Given the description of an element on the screen output the (x, y) to click on. 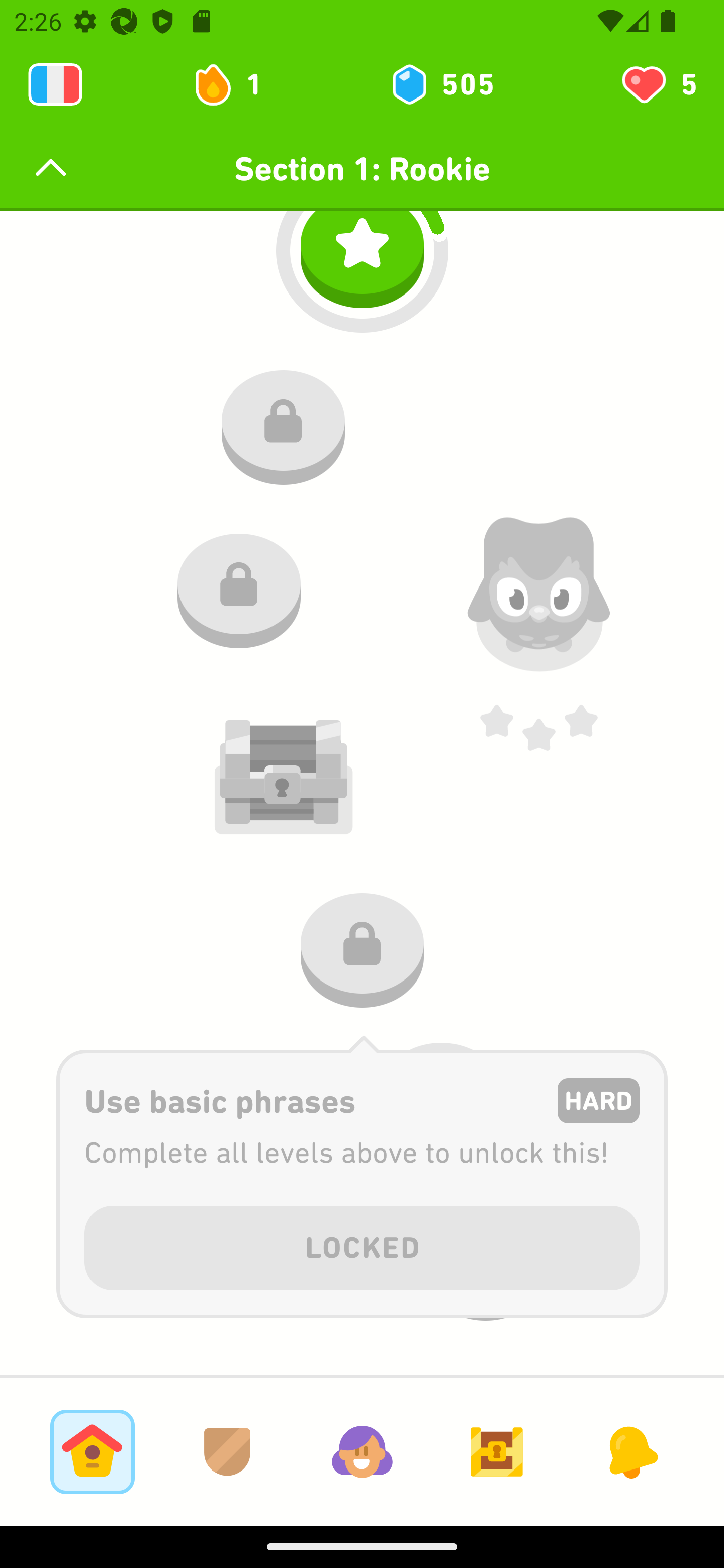
Learning 2131888976 (55, 84)
1 day streak 1 (236, 84)
505 (441, 84)
You have 5 hearts left 5 (657, 84)
Section 1: Rookie (362, 169)
LOCKED (361, 1243)
Learn Tab (91, 1451)
Leagues Tab (227, 1451)
Profile Tab (361, 1451)
Goals Tab (496, 1451)
News Tab (631, 1451)
